Given the description of an element on the screen output the (x, y) to click on. 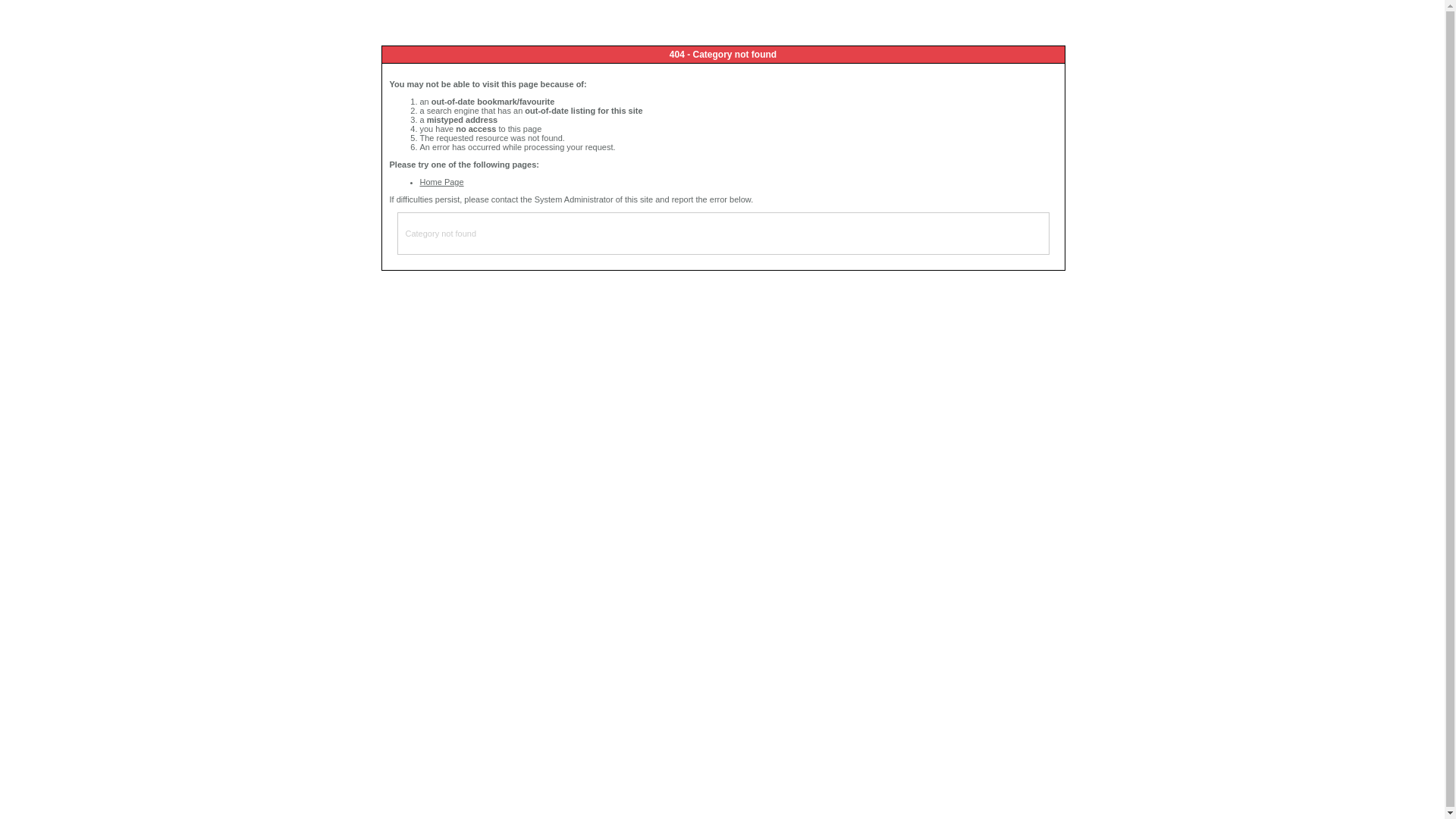
Home Page Element type: text (442, 181)
